Given the description of an element on the screen output the (x, y) to click on. 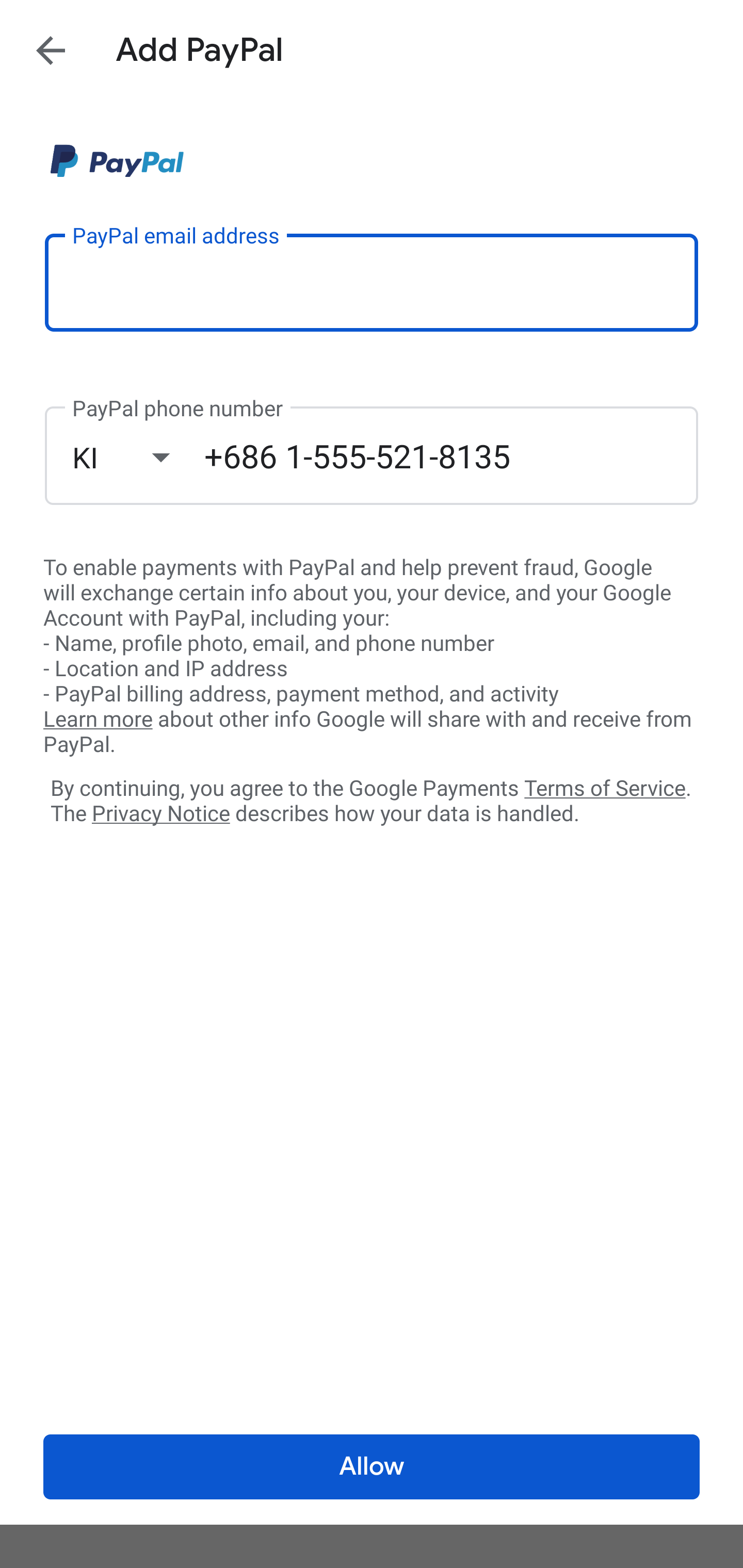
Navigate up (50, 50)
PayPal email address (371, 282)
KI (138, 456)
Learn more (97, 719)
Terms of Service (604, 787)
Privacy Notice (160, 814)
Allow (371, 1466)
